Given the description of an element on the screen output the (x, y) to click on. 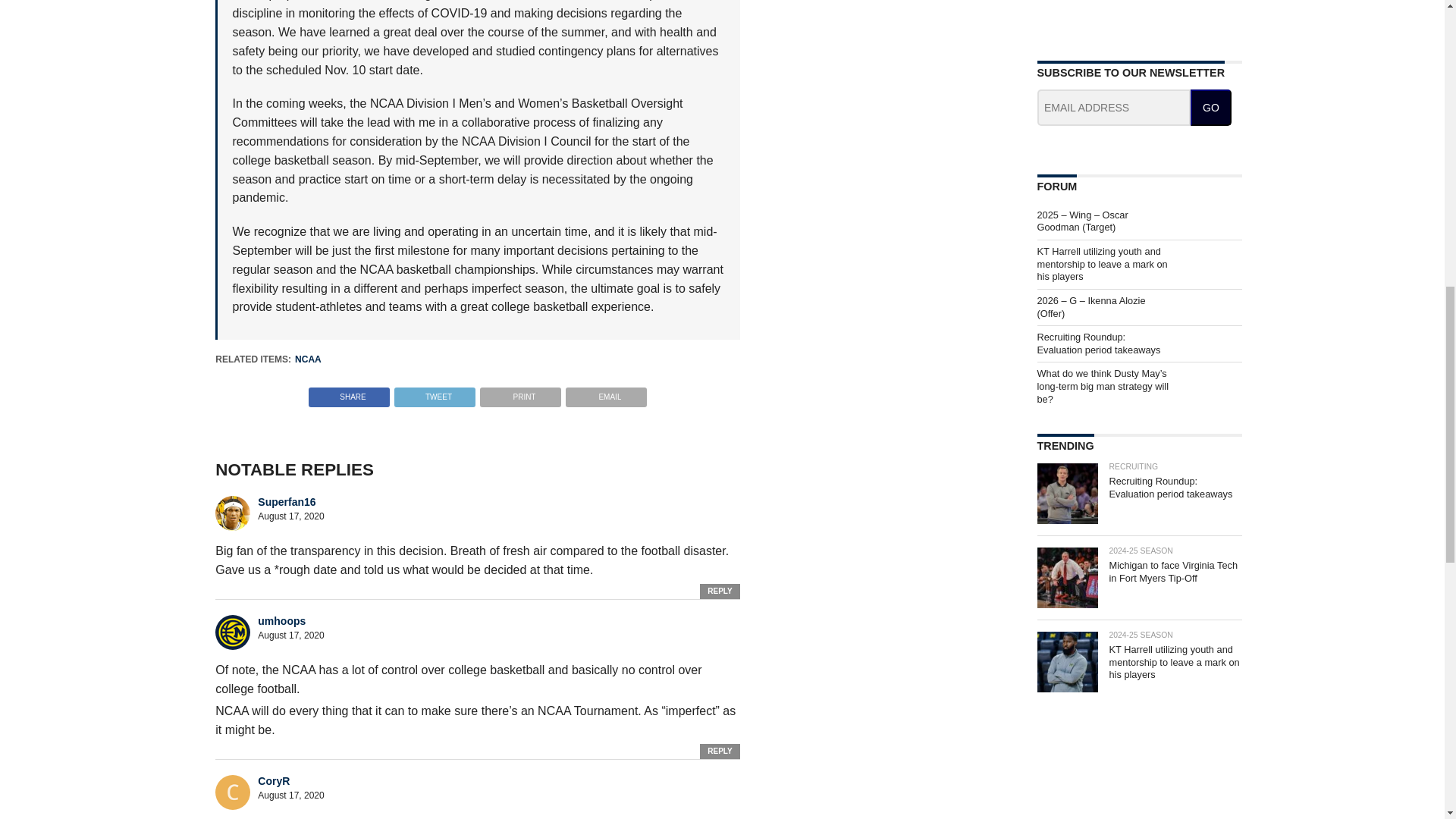
Print this post (520, 392)
Share on Facebook (349, 392)
Tweet This Post (434, 392)
